Given the description of an element on the screen output the (x, y) to click on. 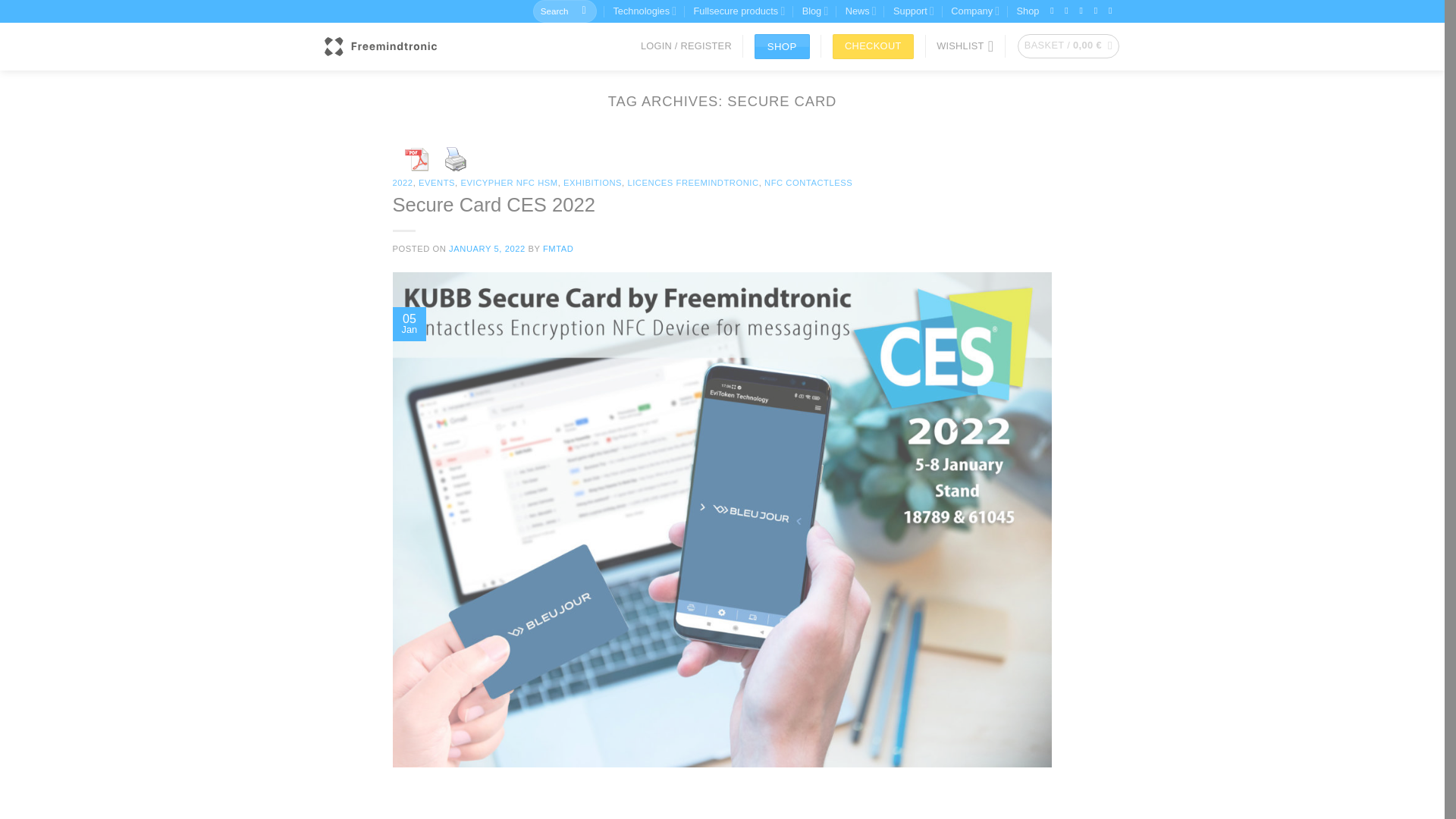
Send us an email (1069, 9)
Download PDF (416, 159)
Follow on LinkedIn (1098, 9)
Basket (1068, 46)
Wishlist (964, 46)
Freemindtronic - Take back control, take back power (380, 45)
Technologies (644, 11)
Follow on YouTube (1113, 9)
Follow on Twitter (1054, 9)
Call us (1084, 9)
Print Content (455, 159)
Search (584, 11)
Login (686, 46)
